Given the description of an element on the screen output the (x, y) to click on. 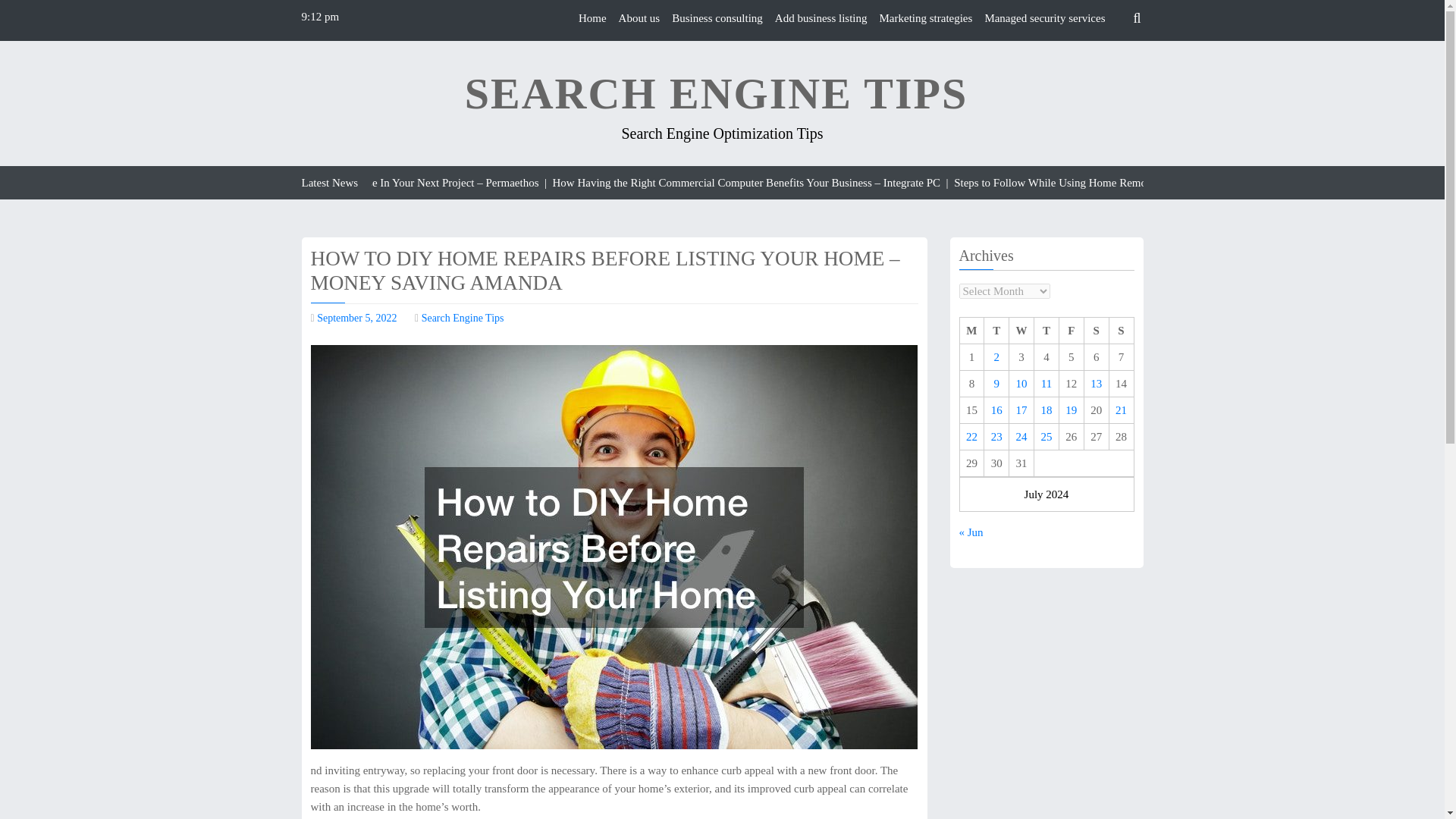
Tuesday (996, 330)
13 (1096, 383)
19 (1071, 410)
Business consulting (716, 18)
About us (639, 18)
17 (1021, 410)
Search Engine Tips (462, 317)
Wednesday (1021, 330)
Sunday (1121, 330)
Marketing strategies (925, 18)
Search (1109, 54)
10 (1021, 383)
Thursday (1046, 330)
Managed security services (1044, 18)
25 (1046, 436)
